Given the description of an element on the screen output the (x, y) to click on. 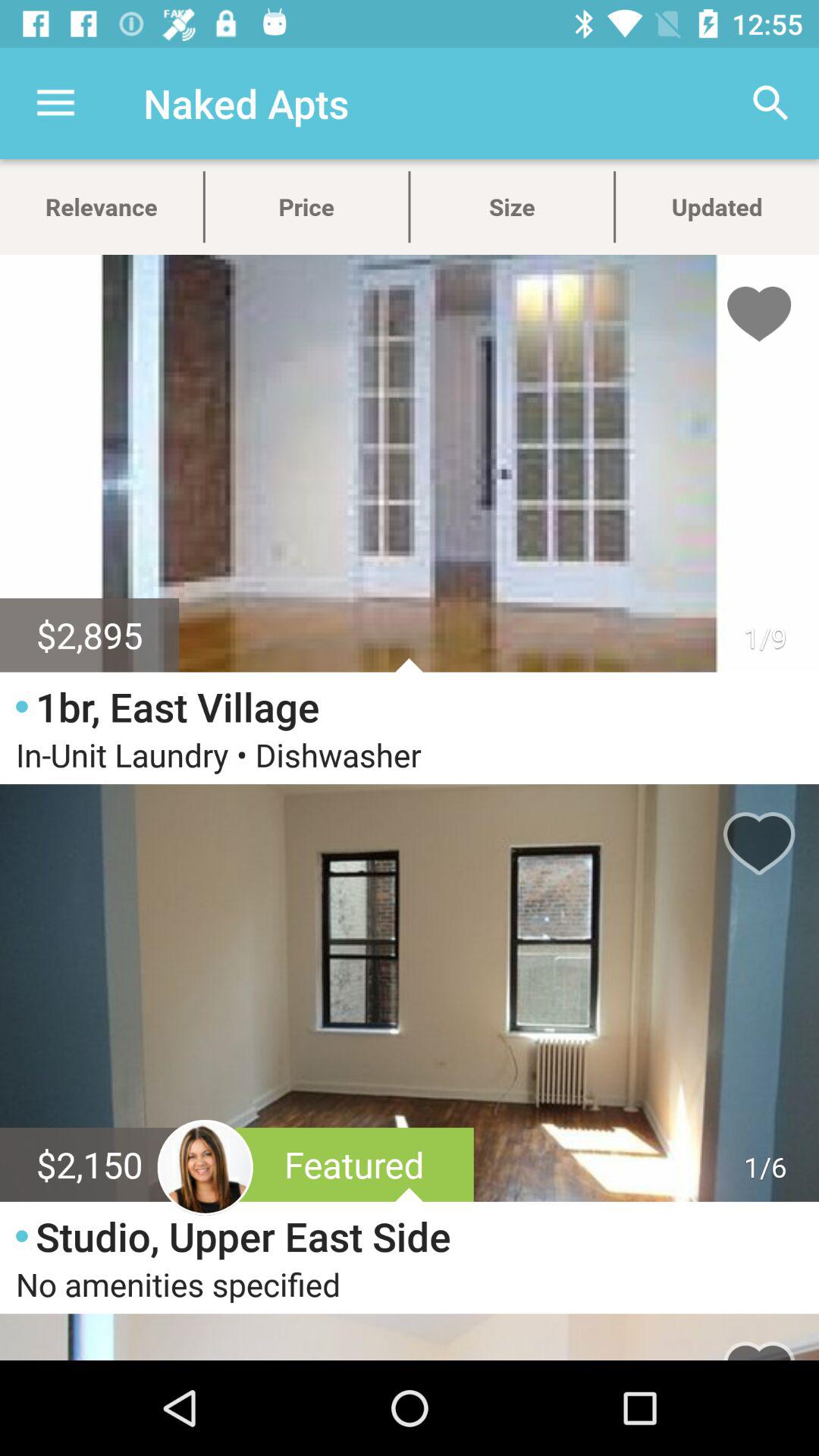
jump to relevance icon (101, 206)
